Given the description of an element on the screen output the (x, y) to click on. 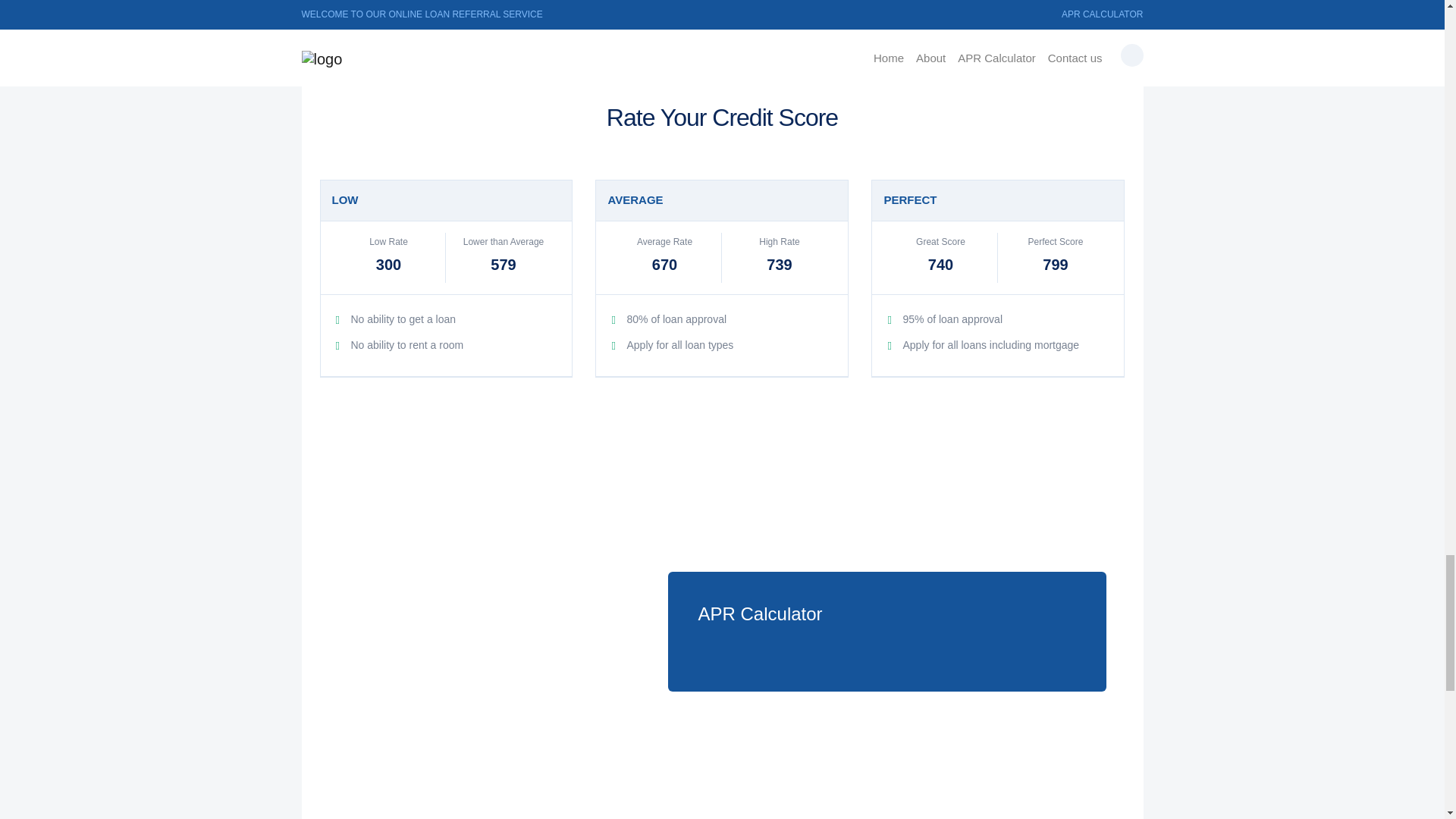
Coastal Heritage Bank (408, 796)
Cardinal Financial LP (405, 815)
Salem Five Bank (670, 812)
CIT Group Inc (940, 815)
Leominster Credit Union (975, 812)
